Given the description of an element on the screen output the (x, y) to click on. 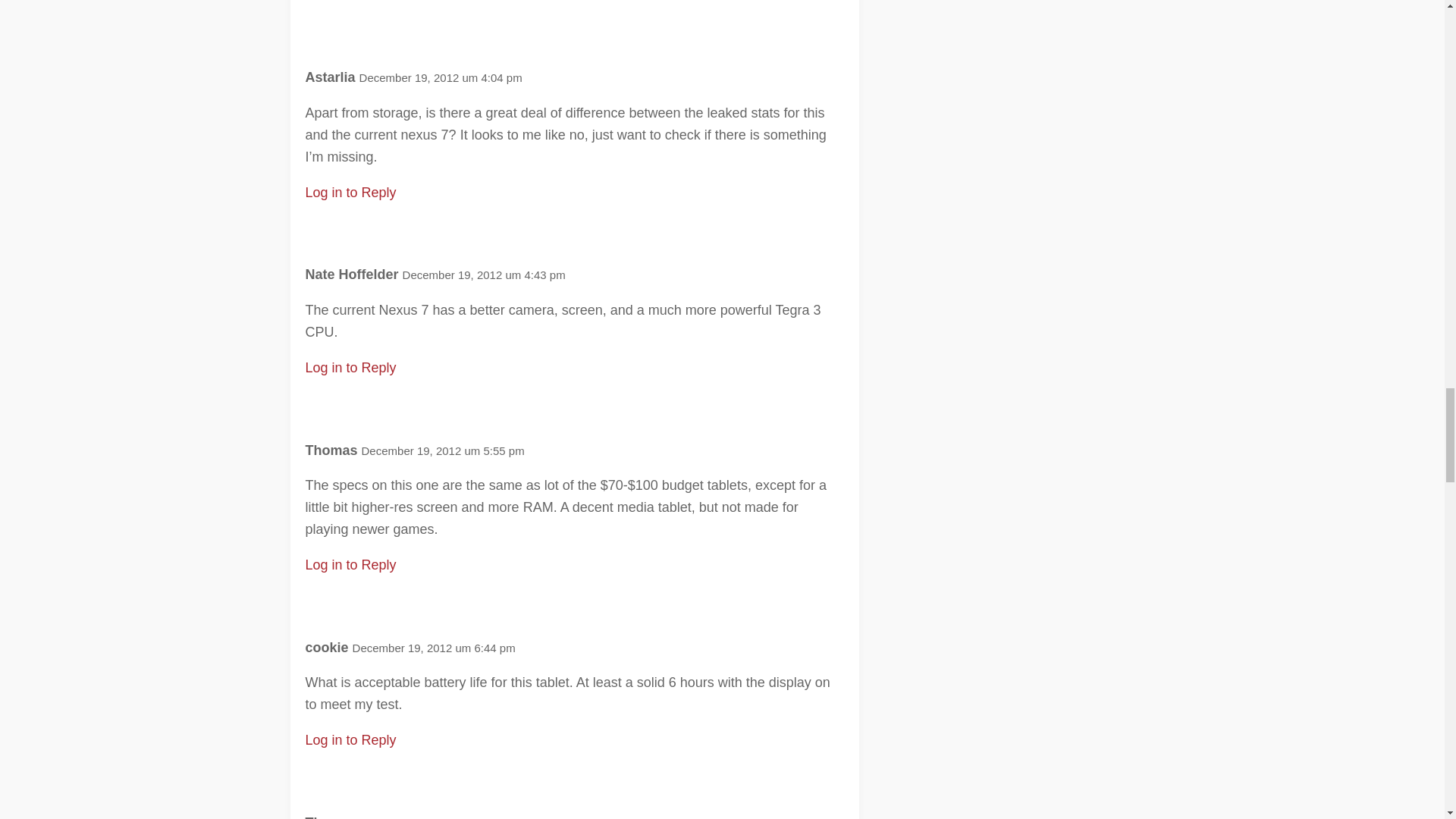
Log in to Reply (350, 367)
Log in to Reply (350, 564)
Log in to Reply (350, 739)
Log in to Reply (350, 192)
